Given the description of an element on the screen output the (x, y) to click on. 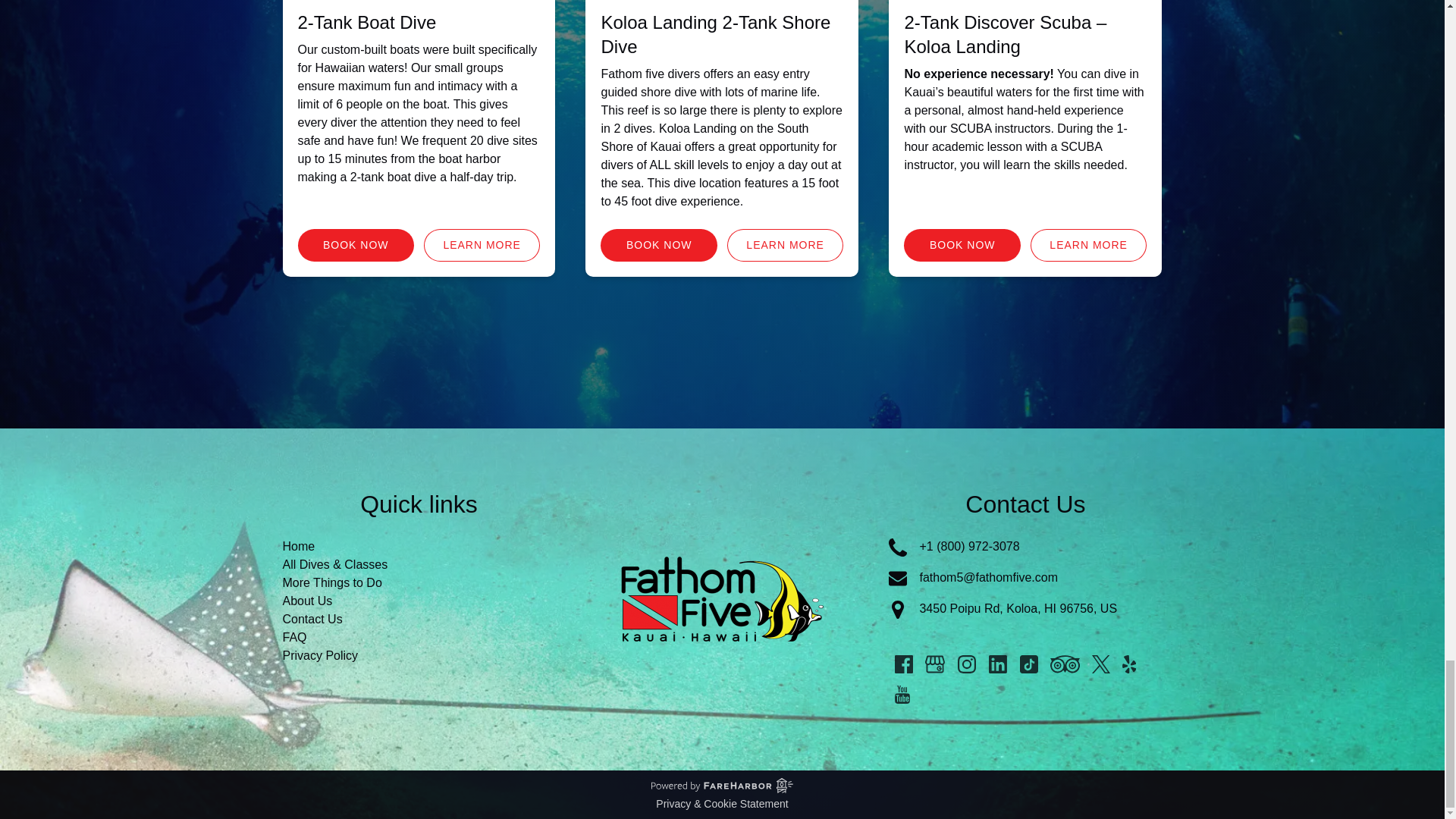
Envelope (897, 578)
Map Marker (897, 609)
Phone (897, 547)
